Given the description of an element on the screen output the (x, y) to click on. 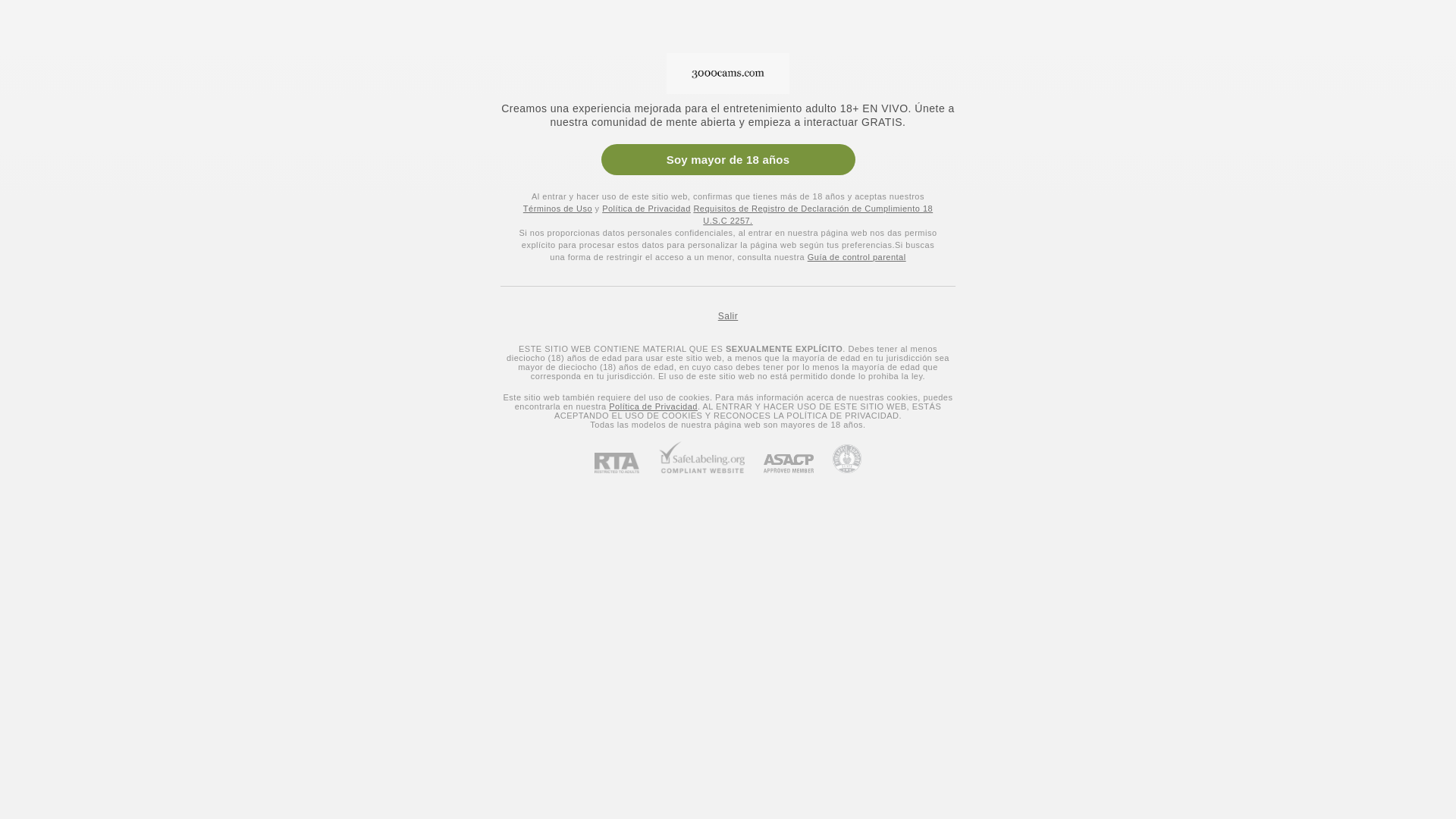
Jovencitas 22+ Element type: text (48, 528)
saki_an Element type: text (518, 242)
Aceptar todas Element type: text (1076, 777)
En un show Grupal
Chill-18 Element type: text (906, 610)
eightsister Element type: text (518, 389)
Maduras Element type: text (34, 575)
7019 EN VIVO Element type: text (245, 20)
jing_qing21 Element type: text (1101, 389)
Feed Element type: text (79, 123)
Angel_beibei Element type: text (906, 389)
yaoyao857 Element type: text (906, 242)
Ver Historial Element type: text (79, 203)
Mejores Webcams en Vivo Gratis Element type: text (342, 520)
Lorelein-23 Element type: text (1101, 610)
Abuelas Element type: text (32, 599)
Salir Element type: text (728, 315)
Timin-Ah Element type: text (1295, 610)
Adolescentes 18+ Element type: text (54, 505)
Trans Element type: text (263, 55)
Inicio Element type: text (79, 96)
Coqueteo Element type: text (49, 425)
OBTENER Element type: text (1394, 103)
Game_yoyo Element type: text (324, 389)
feifei-520 Element type: text (1295, 389)
fog- Element type: text (1101, 242)
Chinas Element type: text (278, 152)
Mujeres Element type: text (37, 55)
Iris_horny_ Element type: text (324, 610)
Parejas Element type: text (112, 55)
Fetiches Element type: text (47, 401)
VER TODO Element type: text (1350, 153)
Chinas Element type: text (43, 331)
Latina Element type: text (28, 753)
Ucranianas Element type: text (53, 284)
Recomendado Element type: text (79, 150)
Gestionar Element type: text (975, 777)
Hombres Element type: text (190, 55)
Nuevas Modelos Element type: text (64, 354)
Mis Favoritos Element type: text (79, 176)
wenwen1688 Element type: text (712, 242)
Blanca Element type: text (30, 776)
VER TODO Element type: text (1350, 521)
MILF Element type: text (26, 552)
hk_xiaoxiao Element type: text (324, 242)
-LinLin Element type: text (1295, 242)
Abb_baby Element type: text (712, 389)
Jessical Element type: text (712, 610)
Chicas Negras Element type: text (47, 706)
Crear cuenta gratis Element type: text (1282, 20)
hk_xiaoxiao Element type: text (518, 610)
Mejores Modelos Element type: text (374, 20)
India Element type: text (25, 729)
